Given the description of an element on the screen output the (x, y) to click on. 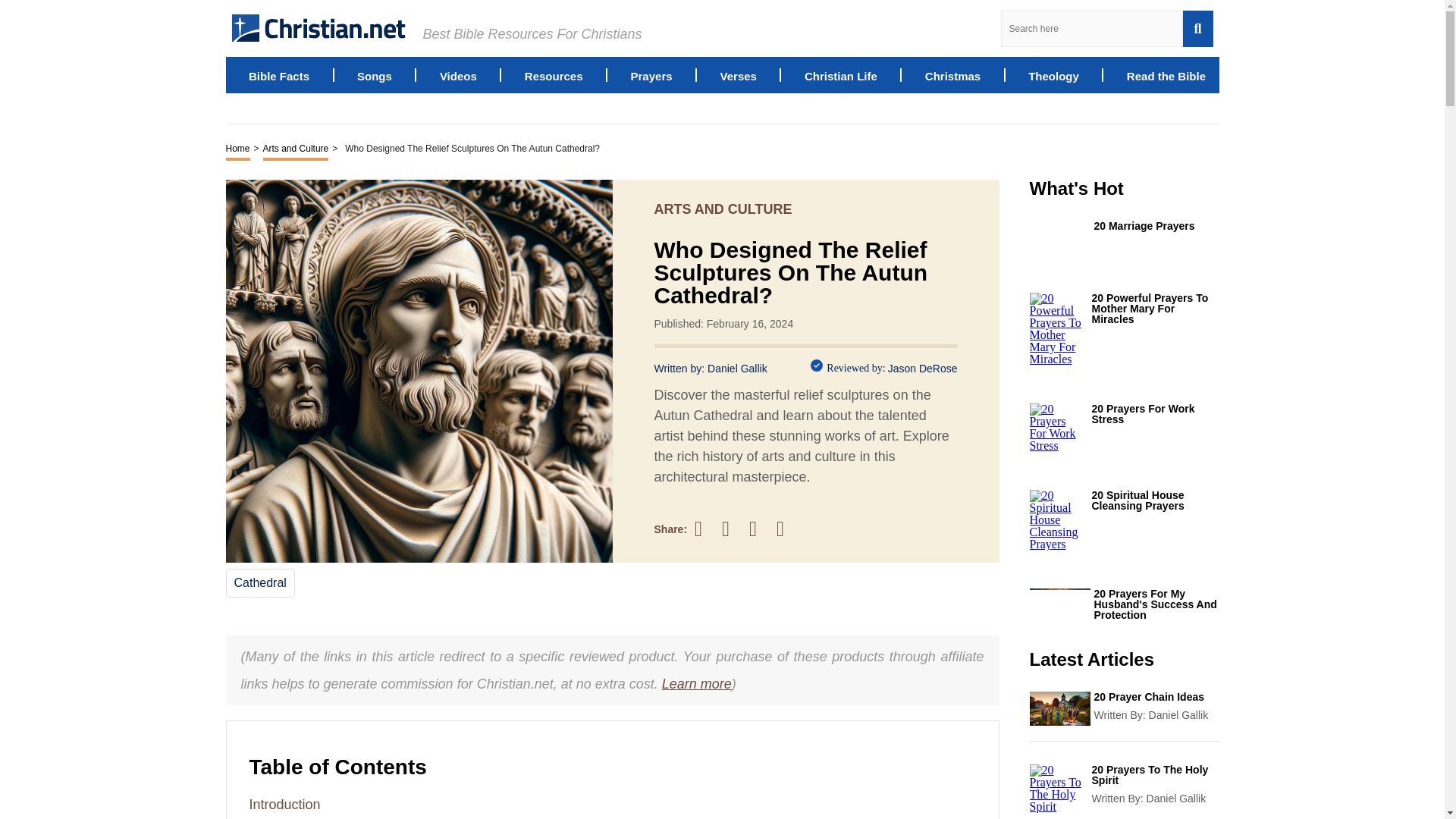
Share on WhatsApp (786, 528)
Introduction (284, 804)
Prayers (651, 74)
Christian Life (841, 74)
Share on Twitter (732, 528)
Theology (1052, 74)
Learn more (697, 683)
Videos (458, 74)
Share on Facebook (705, 528)
Verses (738, 74)
Home (237, 149)
Share on Pinterest (759, 528)
Read the Bible (1165, 74)
Cathedral (258, 582)
Christmas (951, 74)
